Given the description of an element on the screen output the (x, y) to click on. 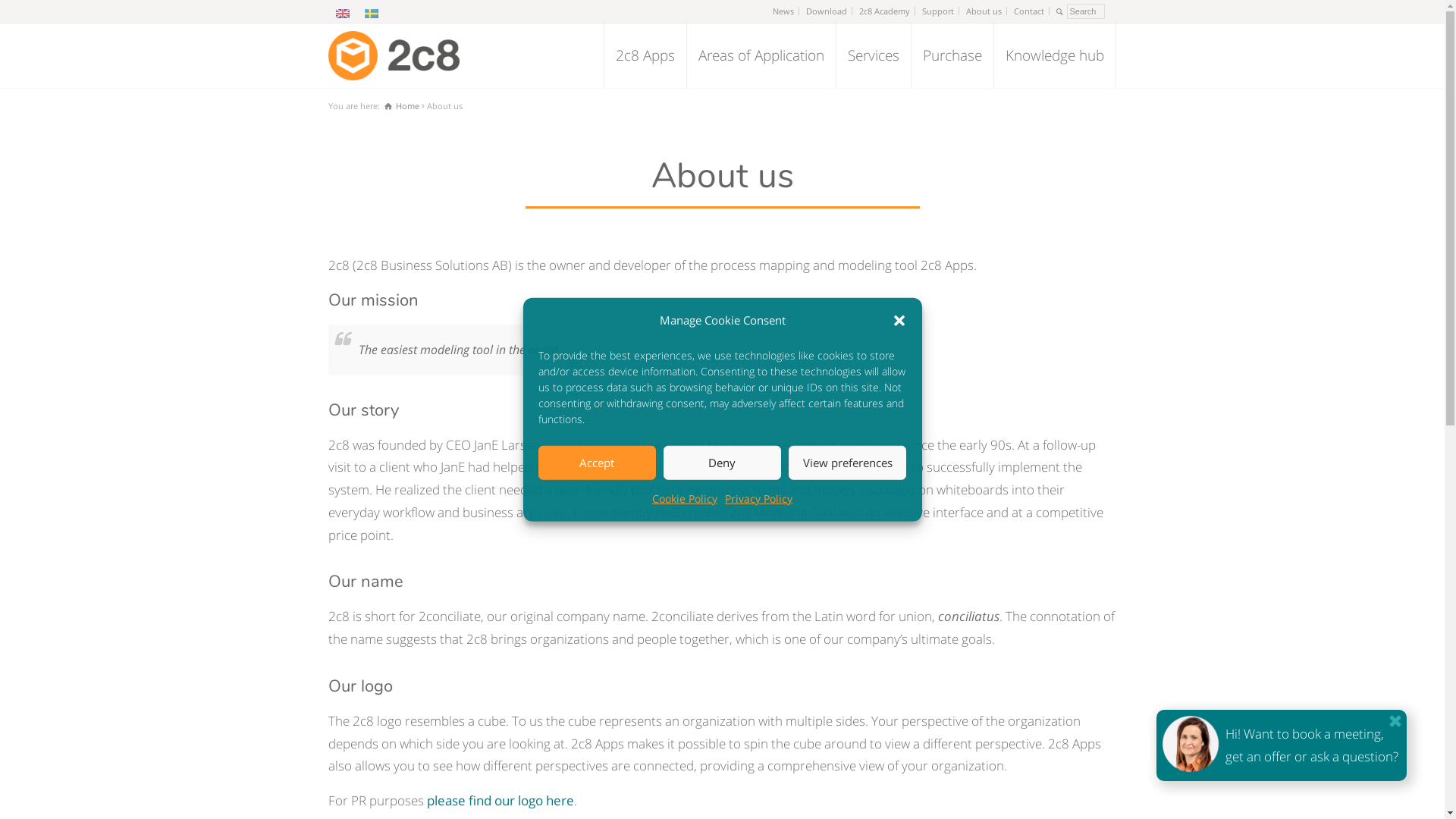
Areas of Application Element type: text (761, 55)
About us Element type: text (983, 10)
Purchase Element type: text (952, 55)
View preferences Element type: text (847, 462)
Knowledge hub Element type: text (1053, 55)
News Element type: text (782, 10)
Services Element type: text (872, 55)
Privacy Policy Element type: text (758, 497)
please find our logo here Element type: text (499, 800)
Cookie Policy Element type: text (684, 497)
Deny Element type: text (722, 462)
Accept Element type: text (596, 462)
Home Element type: text (400, 105)
Download Element type: text (825, 10)
Support Element type: text (937, 10)
Contact Element type: text (1028, 10)
2c8 Apps Element type: text (644, 55)
2c8 Element type: hover (392, 55)
2c8 Academy Element type: text (883, 10)
